Given the description of an element on the screen output the (x, y) to click on. 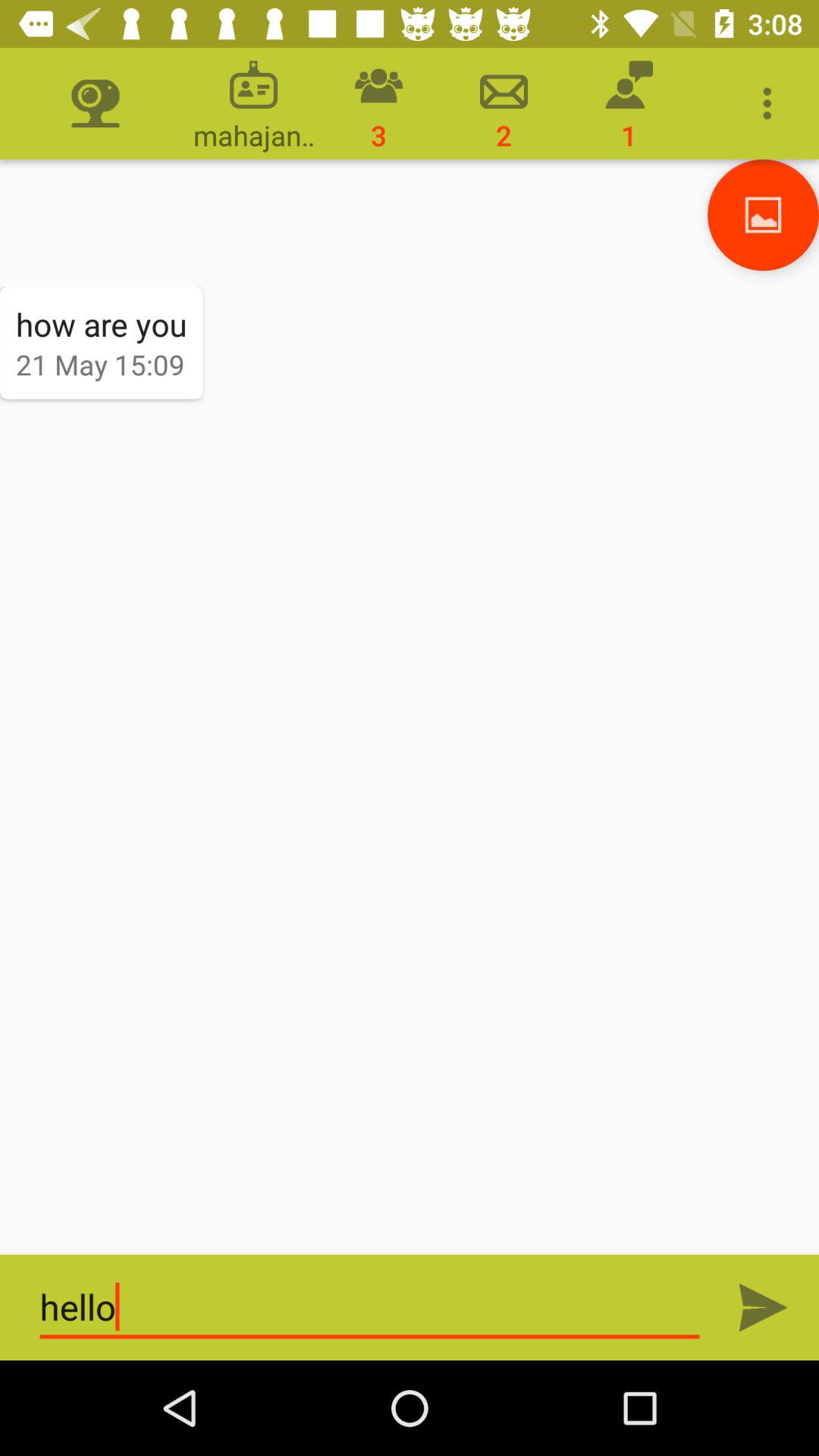
add image (763, 214)
